Given the description of an element on the screen output the (x, y) to click on. 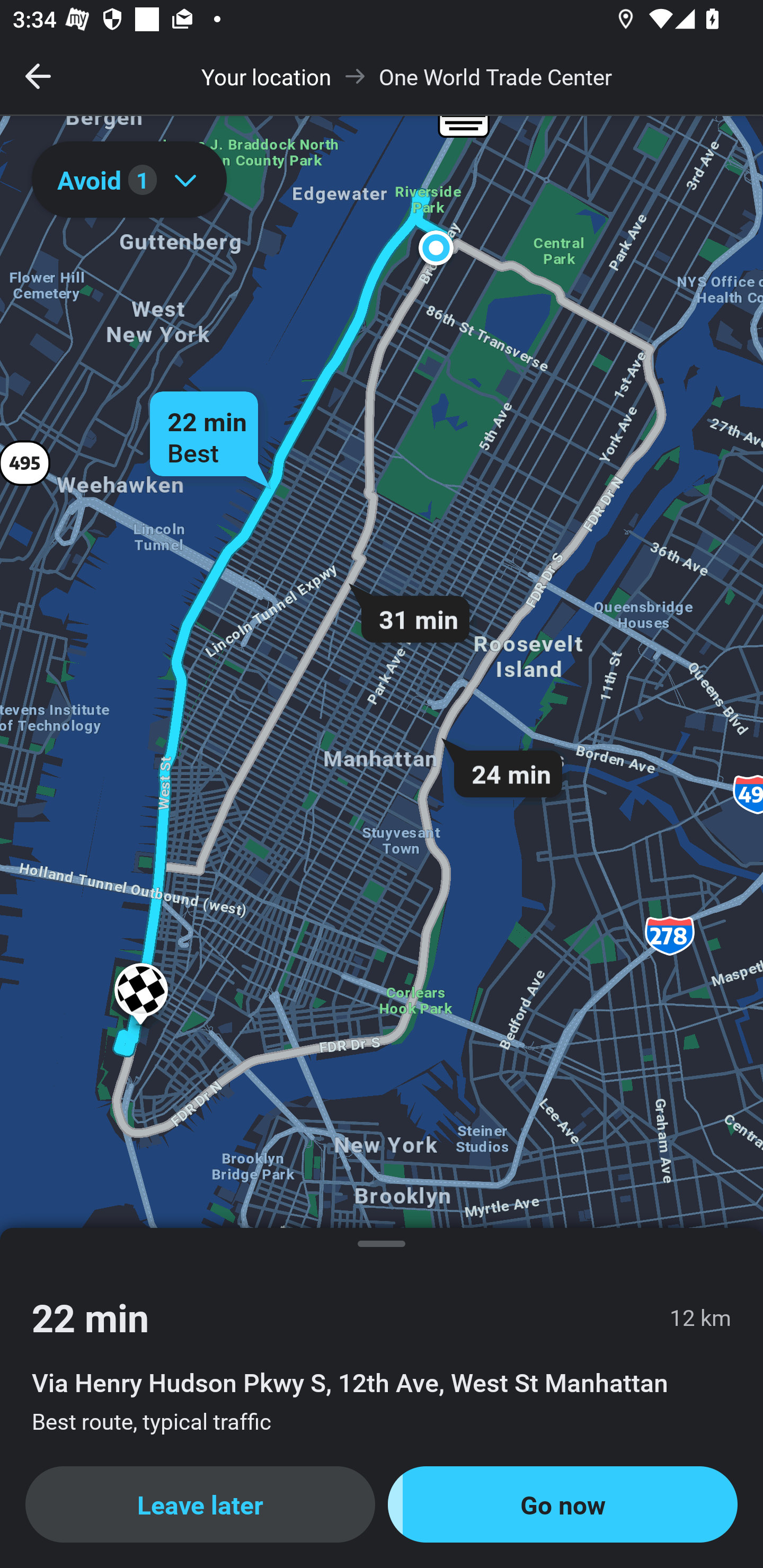
Leave later (200, 1504)
Go now (562, 1504)
